Given the description of an element on the screen output the (x, y) to click on. 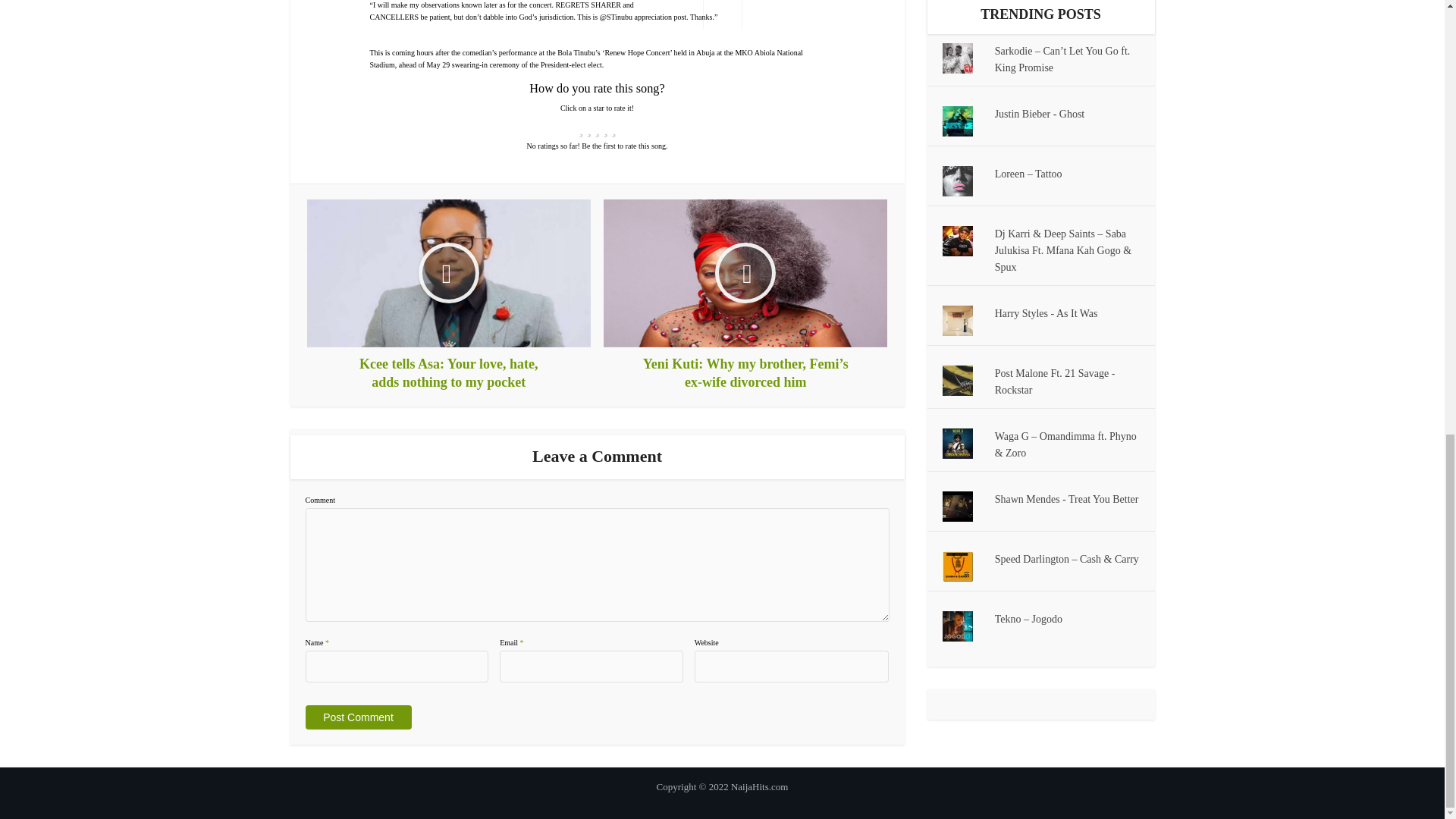
Post Comment (357, 717)
Post Comment (357, 717)
Kcee tells Asa: Your love, hate, adds nothing to my pocket (449, 295)
